Given the description of an element on the screen output the (x, y) to click on. 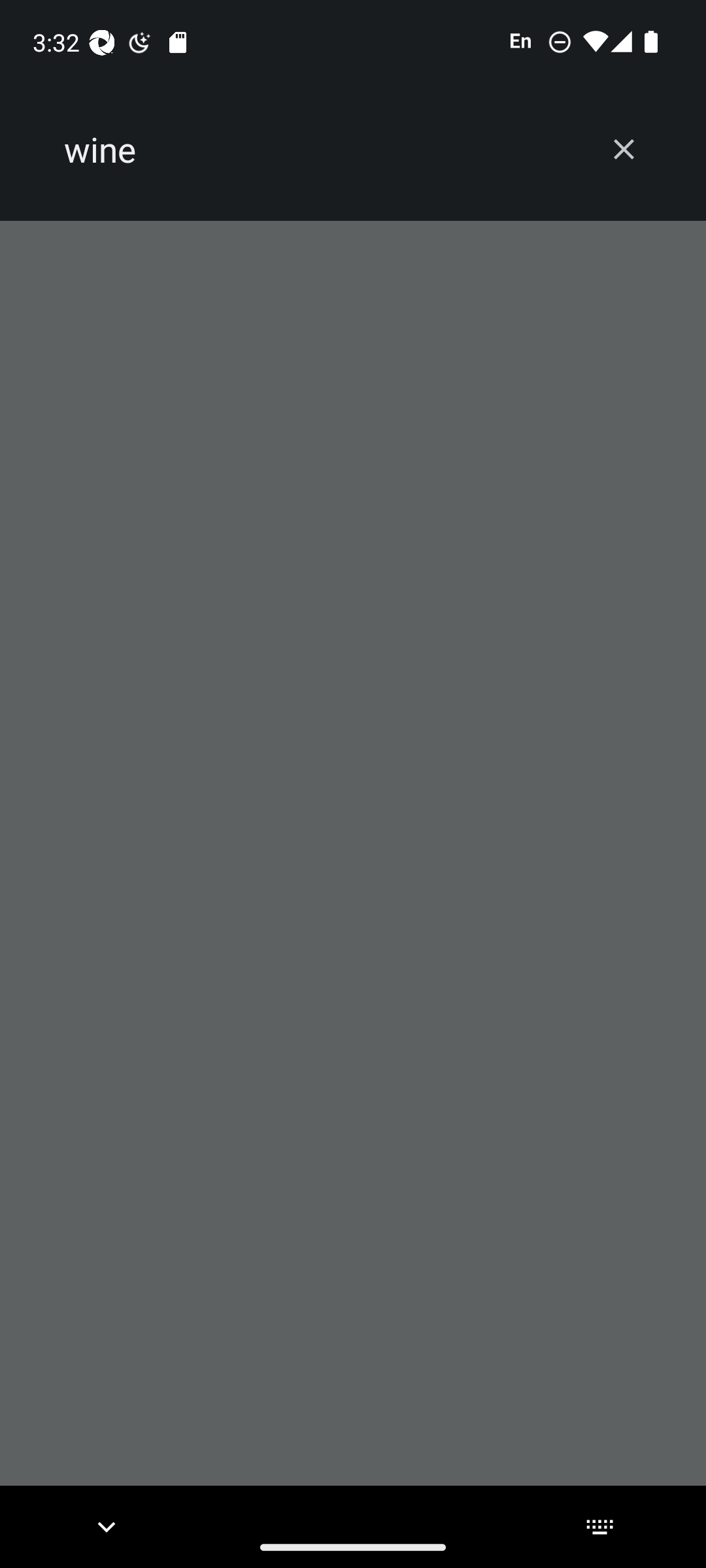
wine (321, 149)
Clear search box (623, 149)
